Given the description of an element on the screen output the (x, y) to click on. 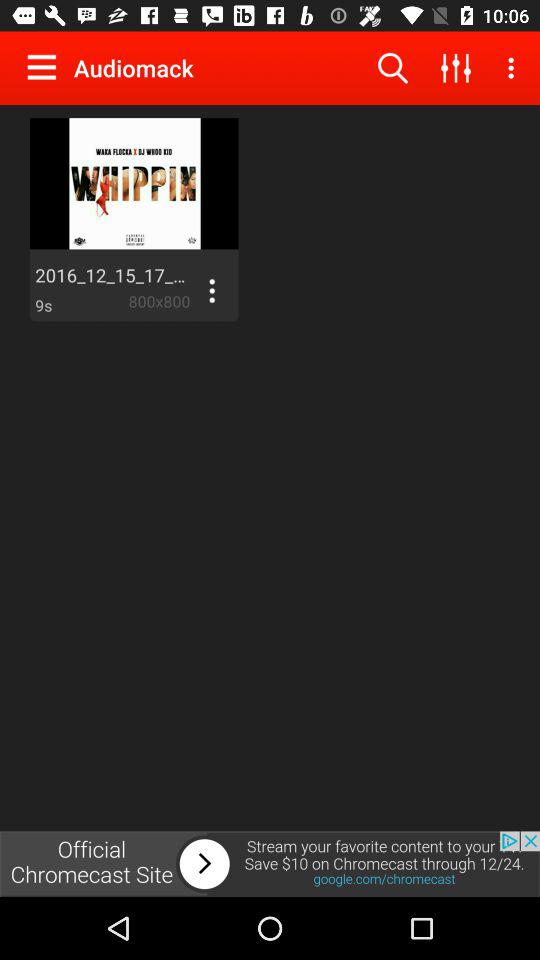
interact with advertisement (270, 864)
